Given the description of an element on the screen output the (x, y) to click on. 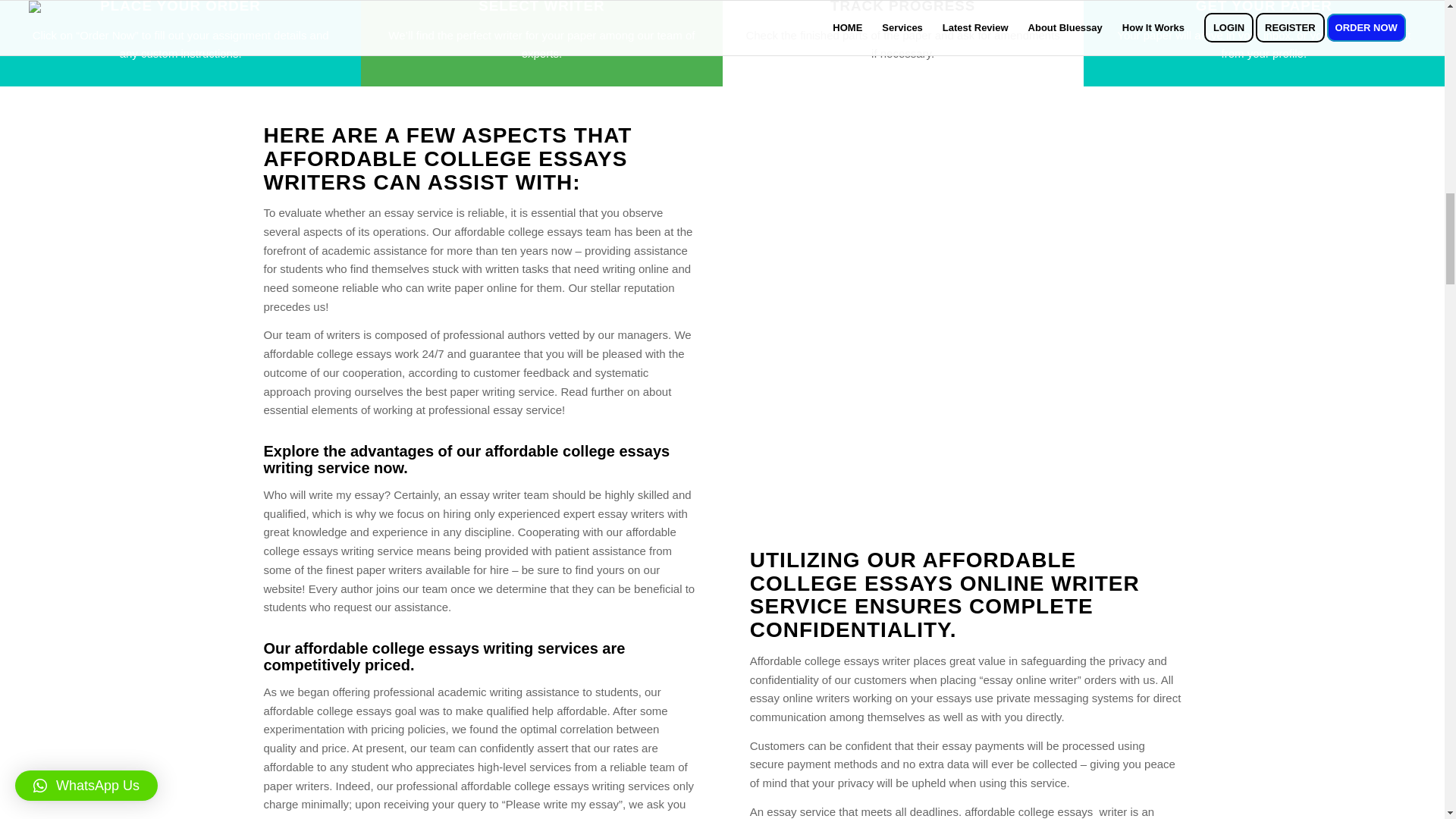
COLLEGE ESSAYS WRITERS (445, 170)
essays writing service (466, 459)
